Given the description of an element on the screen output the (x, y) to click on. 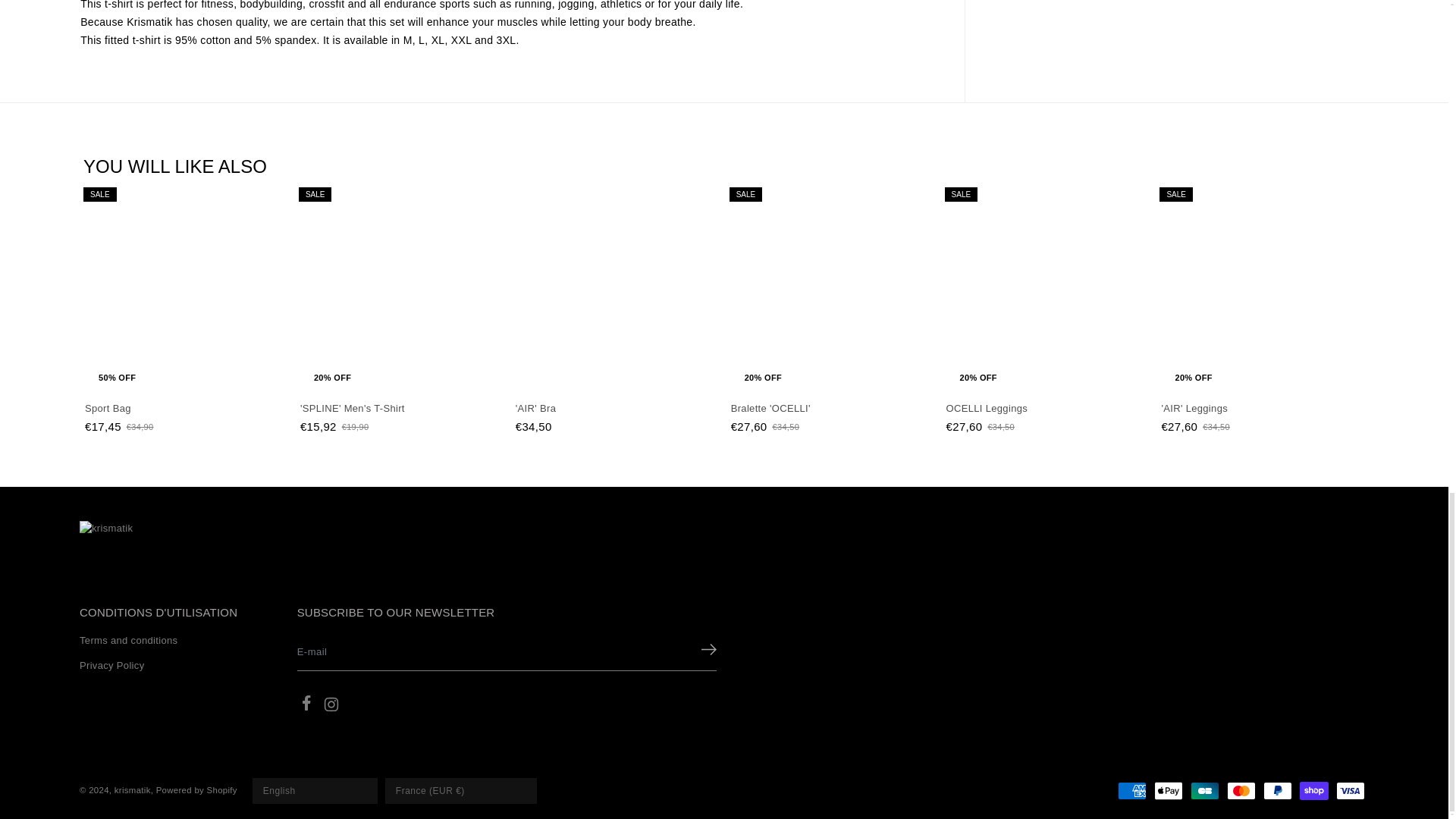
PayPal (1277, 791)
Shop Pay (1313, 791)
Visa (1350, 791)
Cartes Bancaires (1205, 791)
Mastercard (1241, 791)
Sport bag (187, 408)
American Express (1132, 791)
Apple Pay (1168, 791)
